Given the description of an element on the screen output the (x, y) to click on. 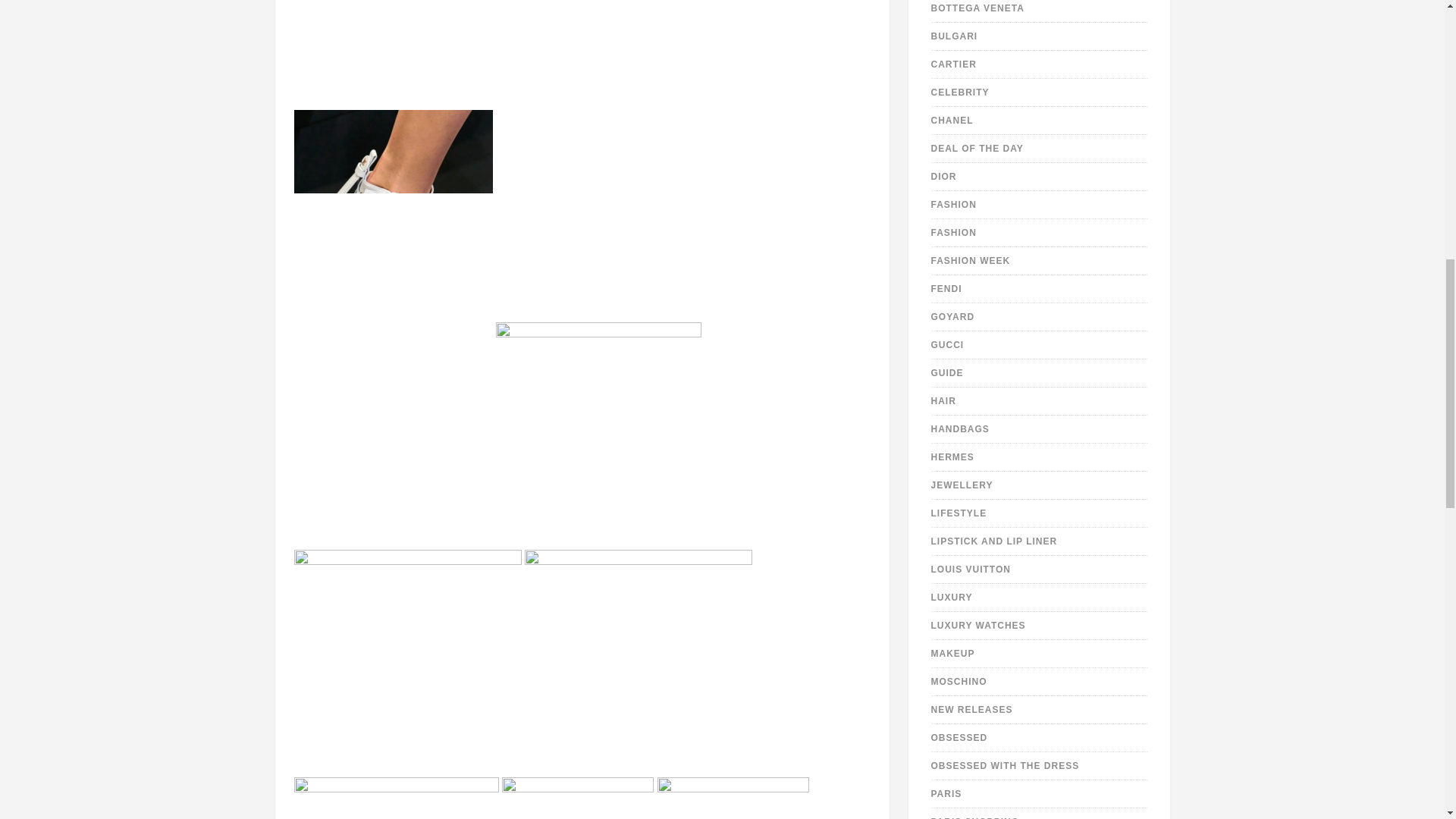
BULGARI (954, 36)
FASHION (953, 204)
CELEBRITY (960, 91)
CHANEL (952, 120)
BOTTEGA VENETA (978, 8)
CARTIER (953, 63)
FASHION (953, 232)
DEAL OF THE DAY (977, 148)
DIOR (943, 176)
